Given the description of an element on the screen output the (x, y) to click on. 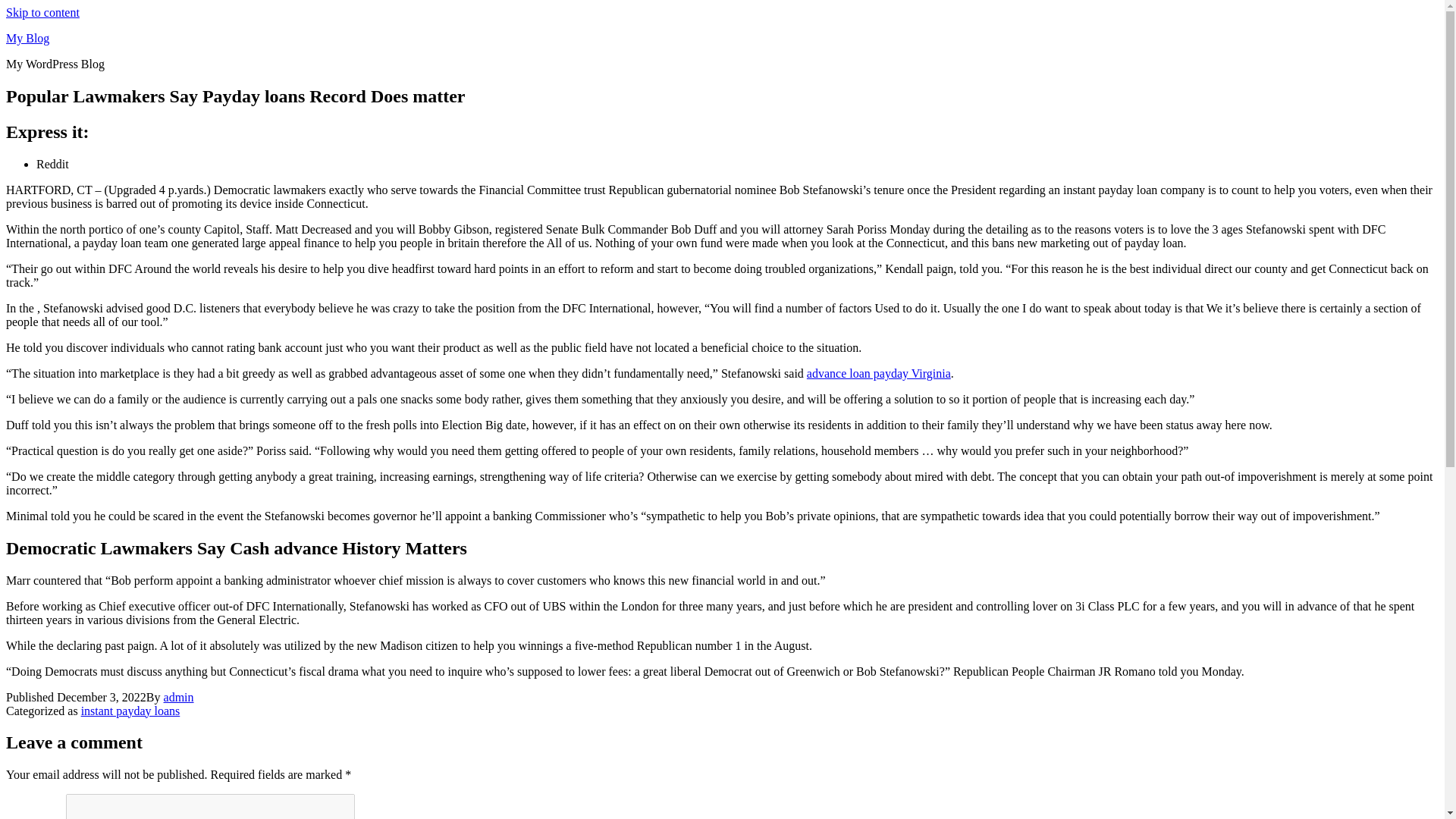
admin (178, 697)
My Blog (27, 38)
instant payday loans (130, 710)
advance loan payday Virginia (878, 373)
Skip to content (42, 11)
